Given the description of an element on the screen output the (x, y) to click on. 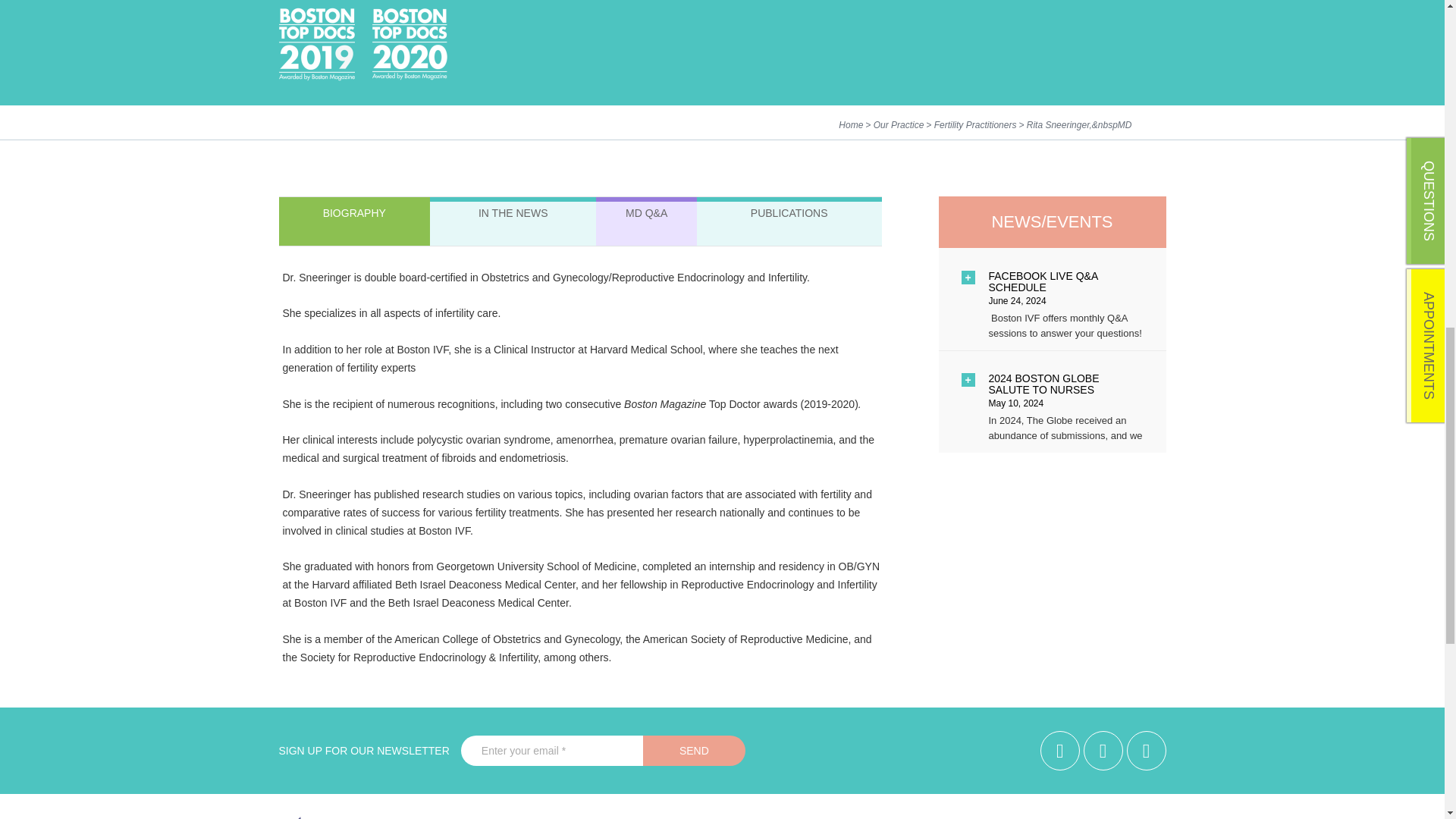
Send (694, 750)
